Given the description of an element on the screen output the (x, y) to click on. 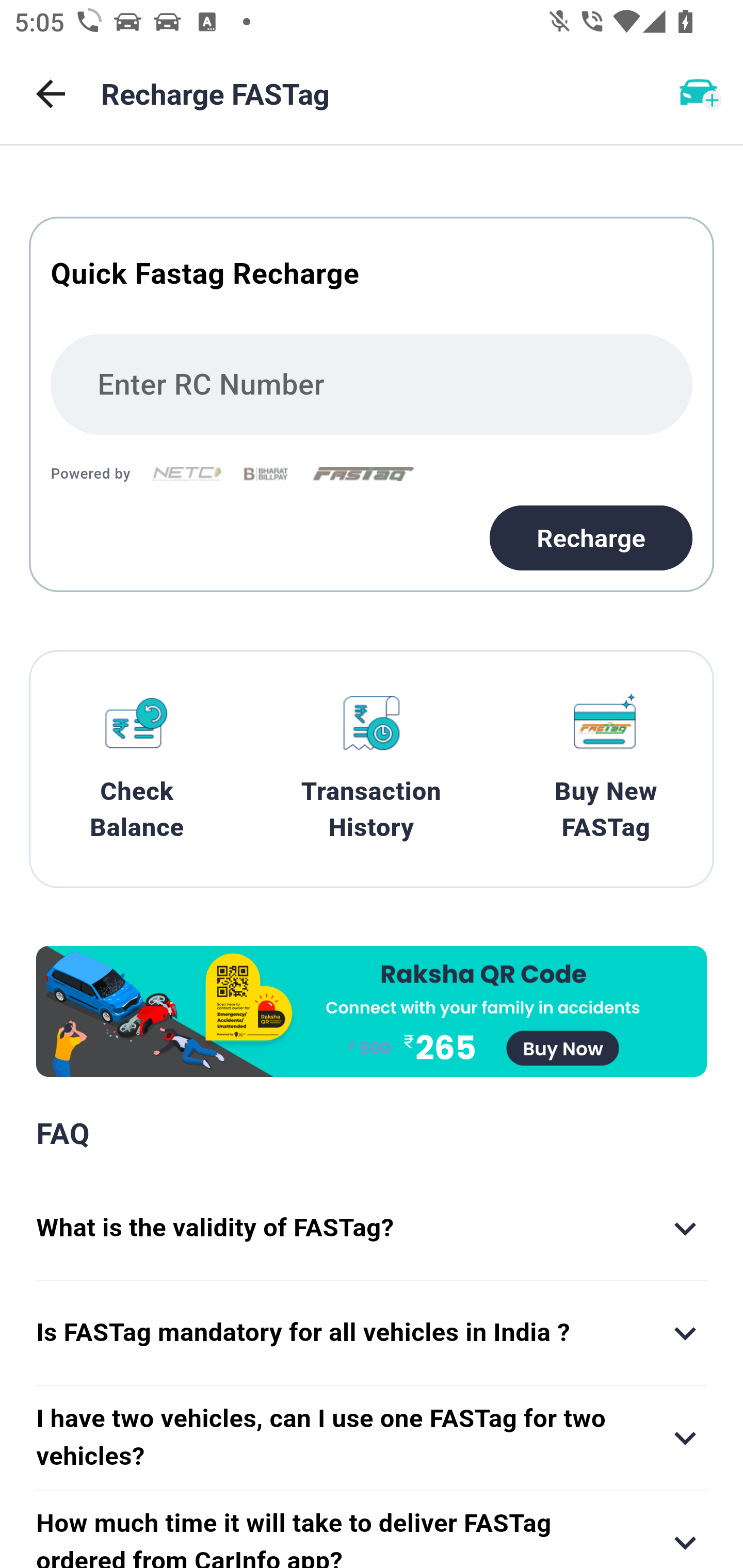
Back (50, 93)
Recharge (371, 404)
Recharge (590, 537)
Check
Balance (136, 768)
Transaction
History (371, 768)
Buy New
FASTag (605, 768)
What is the validity of FASTag? (371, 1228)
Is FASTag mandatory for all vehicles in India ? (371, 1333)
